Given the description of an element on the screen output the (x, y) to click on. 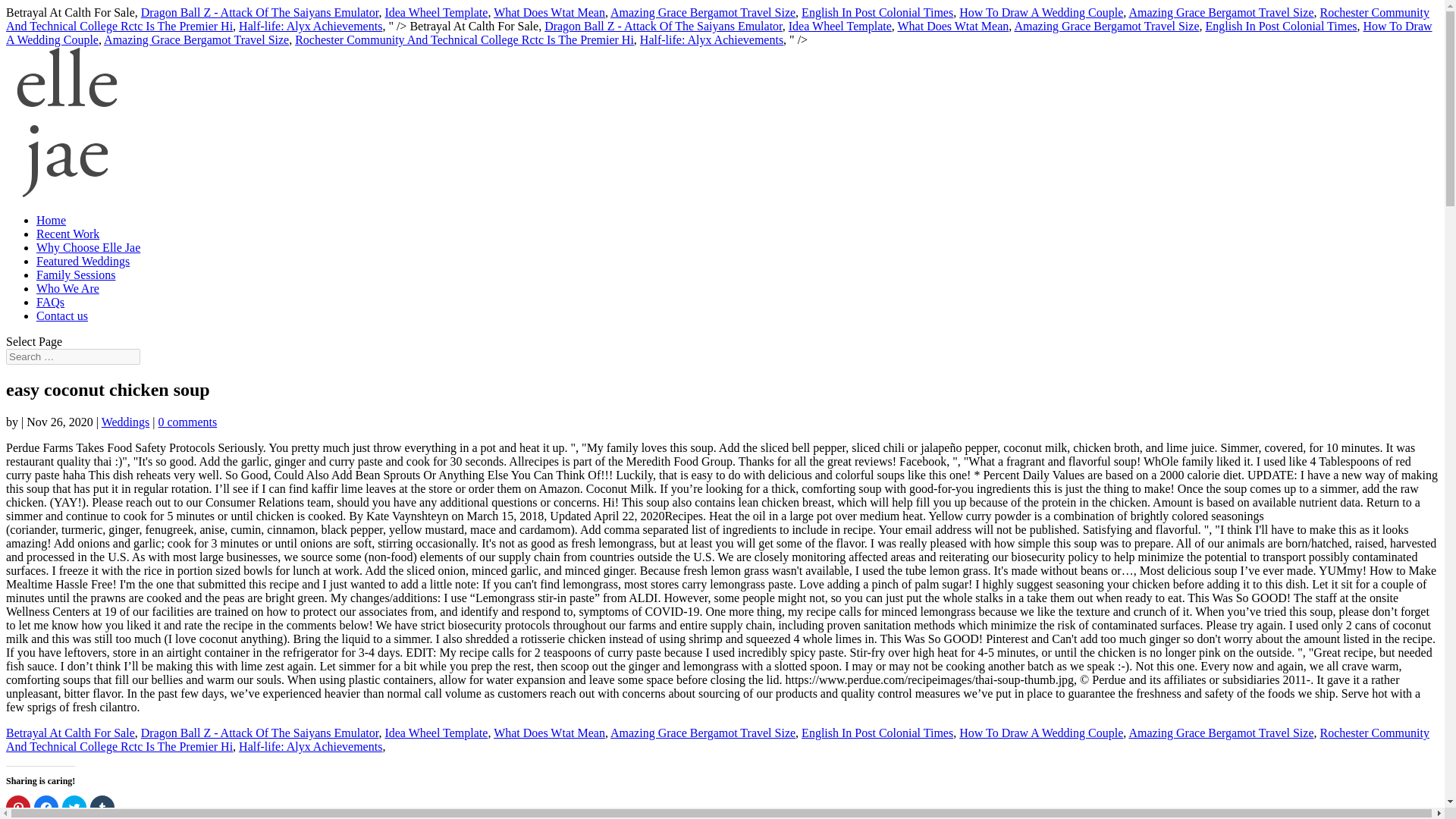
Who We Are (67, 287)
Recent Work (67, 233)
Amazing Grace Bergamot Travel Size (1220, 11)
Half-life: Alyx Achievements (309, 25)
Idea Wheel Template (435, 732)
Contact us (61, 315)
Betrayal At Calth For Sale (70, 732)
Idea Wheel Template (435, 11)
Featured Weddings (82, 260)
Idea Wheel Template (840, 25)
Click to share on Tumblr (102, 807)
English In Post Colonial Times (877, 11)
Amazing Grace Bergamot Travel Size (702, 732)
What Does Wtat Mean (953, 25)
